Given the description of an element on the screen output the (x, y) to click on. 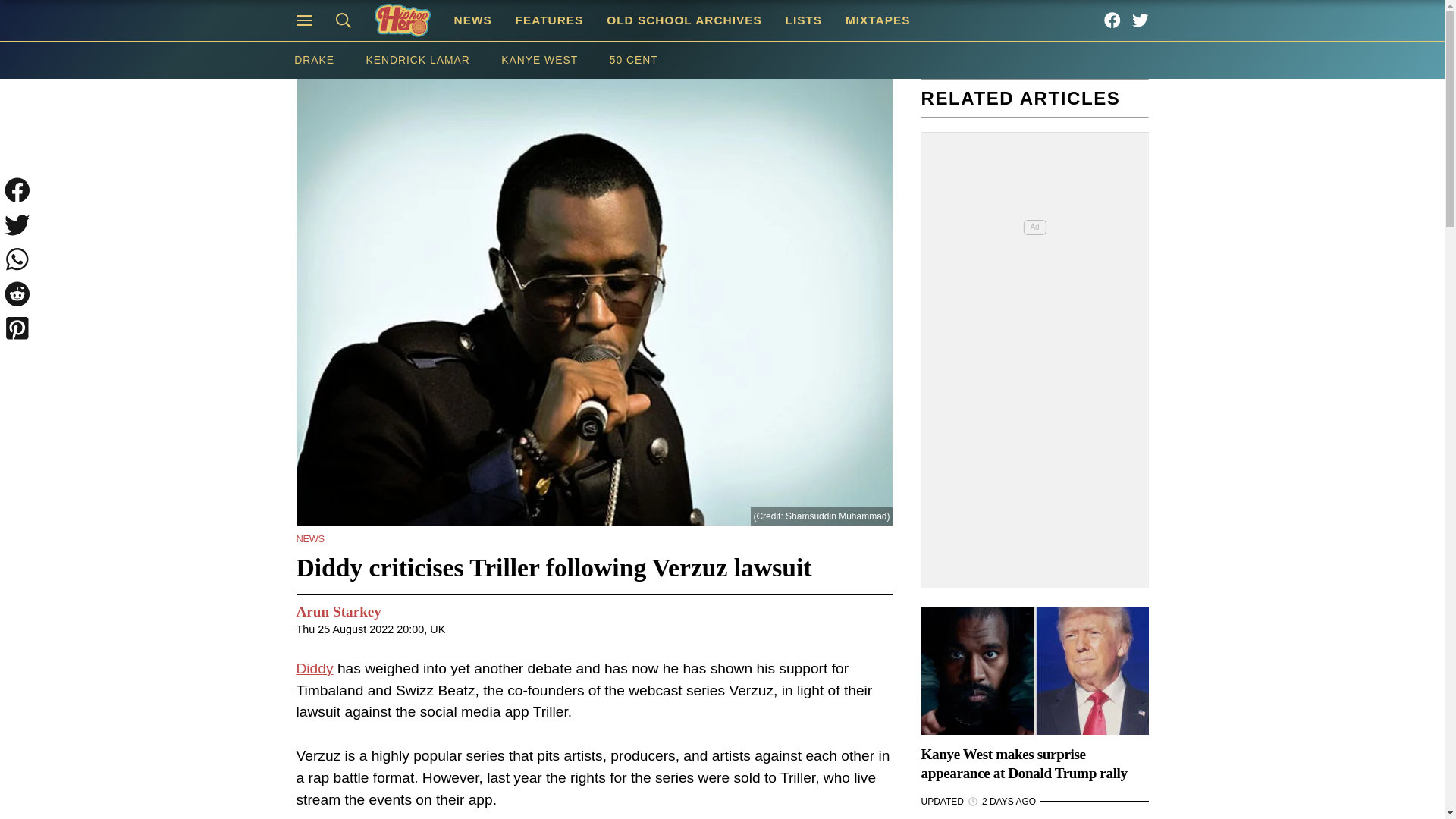
NEWS (309, 538)
OLD SCHOOL ARCHIVES (684, 20)
Posts by Arun Starkey (337, 612)
Hip Hop Hero on Facebook (1112, 20)
NEWS (472, 20)
50 CENT (634, 59)
KANYE WEST (538, 59)
MIXTAPES (877, 20)
FEATURES (549, 20)
Hip Hop Hero on Twitter (1140, 20)
